Given the description of an element on the screen output the (x, y) to click on. 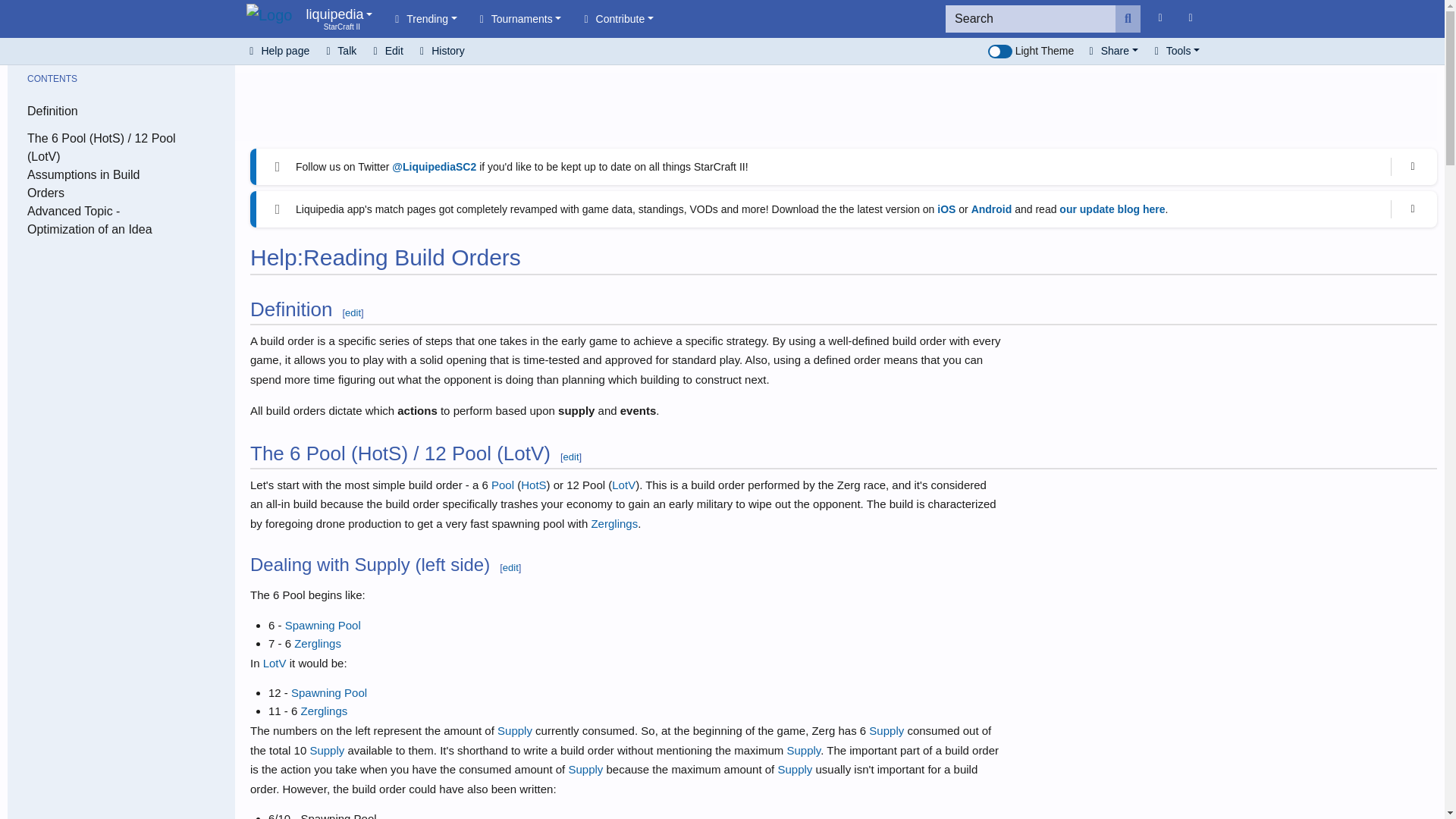
Visit the main page (268, 18)
Close notification (338, 18)
Close notification (1412, 209)
